Given the description of an element on the screen output the (x, y) to click on. 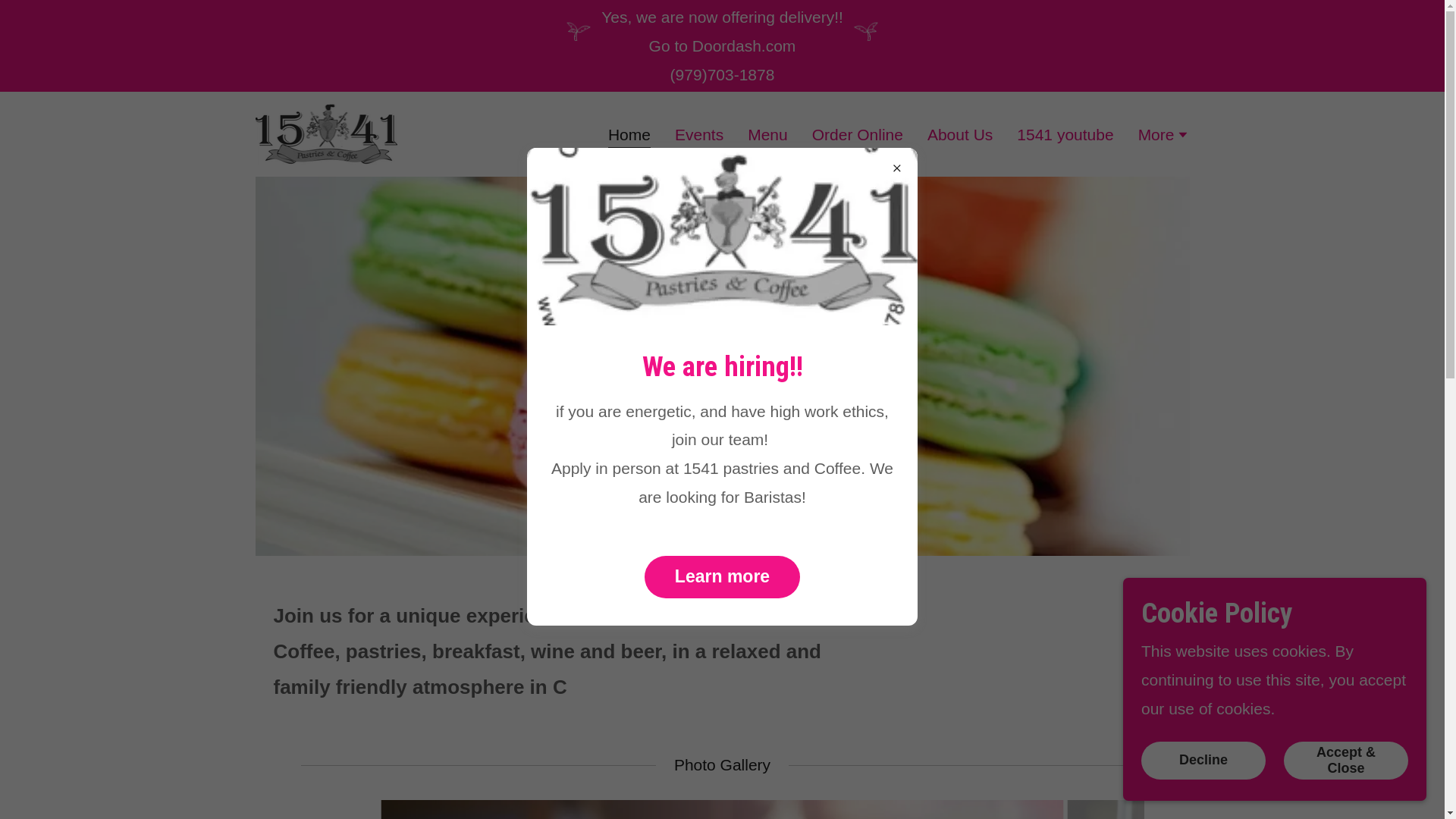
More Element type: text (1163, 136)
Yes, we are now offering delivery!!
Go to Doordash.com Element type: text (721, 31)
1541 youtube Element type: text (1064, 134)
About Us Element type: text (959, 134)
Home Element type: text (629, 136)
Menu Element type: text (767, 134)
Events Element type: text (699, 134)
Learn more Element type: text (722, 576)
1541 PASTRIES AND COFFEE Element type: hover (325, 132)
Decline Element type: text (1203, 760)
Accept & Close Element type: text (1345, 760)
(979)703-1878 Element type: text (722, 74)
Order Online Element type: text (857, 134)
